Given the description of an element on the screen output the (x, y) to click on. 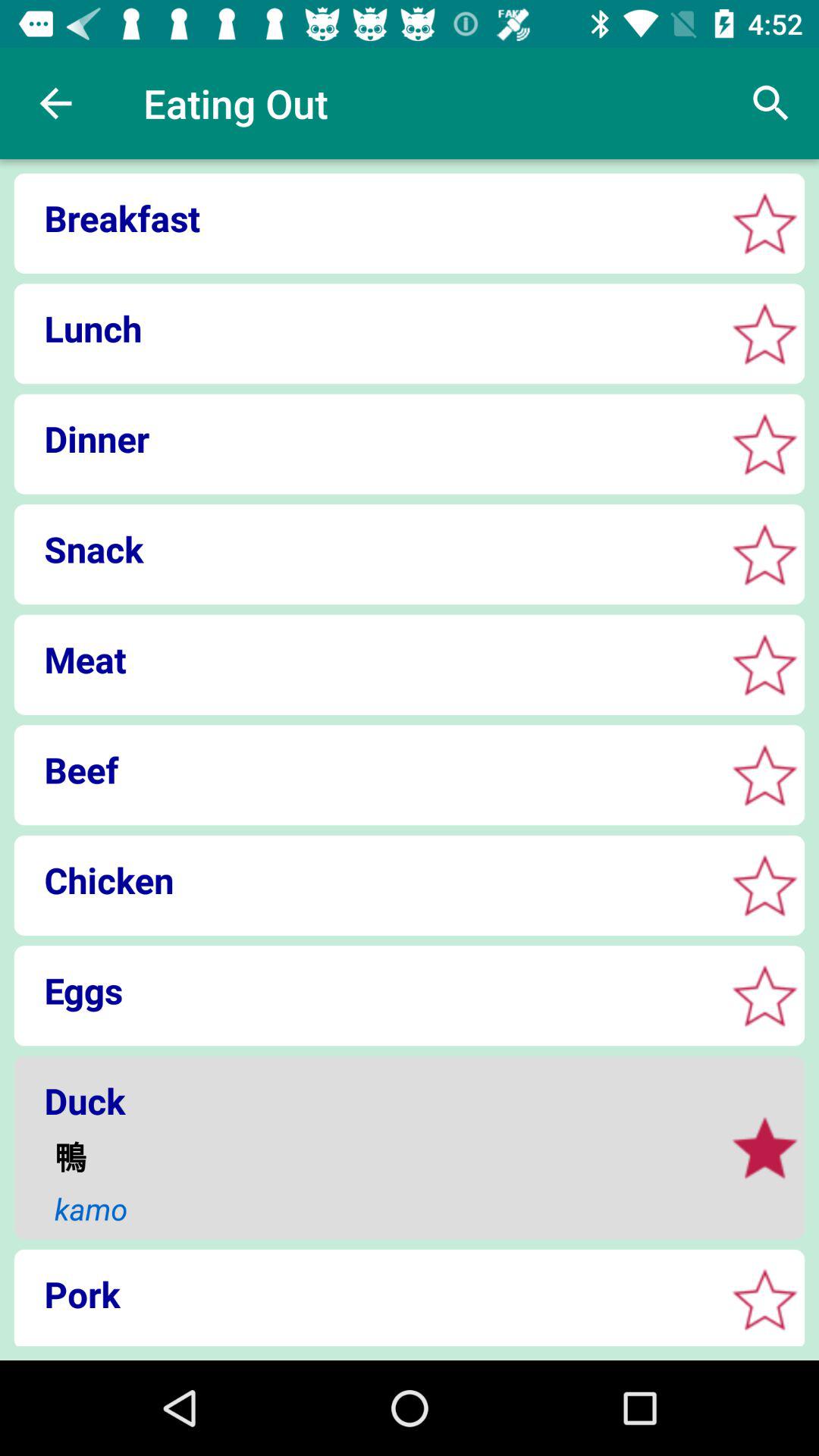
click your favourite (764, 664)
